Given the description of an element on the screen output the (x, y) to click on. 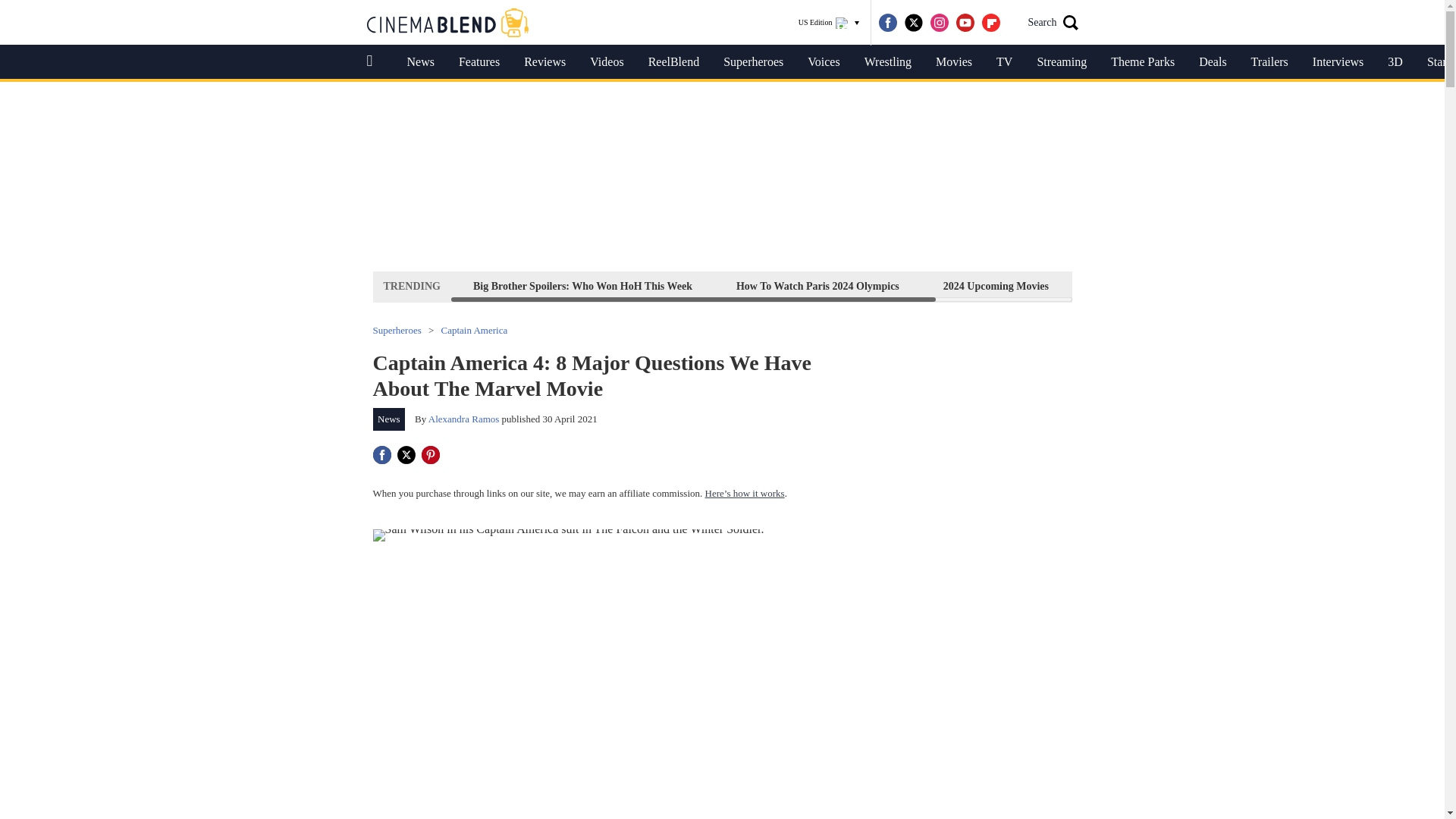
How To Watch Paris 2024 Olympics (817, 286)
Streaming (1062, 61)
Theme Parks (1142, 61)
Superheroes (752, 61)
ReelBlend (673, 61)
Movies (953, 61)
Videos (606, 61)
3D (1395, 61)
Big Brother Spoilers: Who Won HoH This Week (582, 286)
Deals (1212, 61)
Reviews (545, 61)
Captain America (474, 329)
Wrestling (887, 61)
100 Best Sitcoms Of All Time (1158, 286)
Trailers (1269, 61)
